Given the description of an element on the screen output the (x, y) to click on. 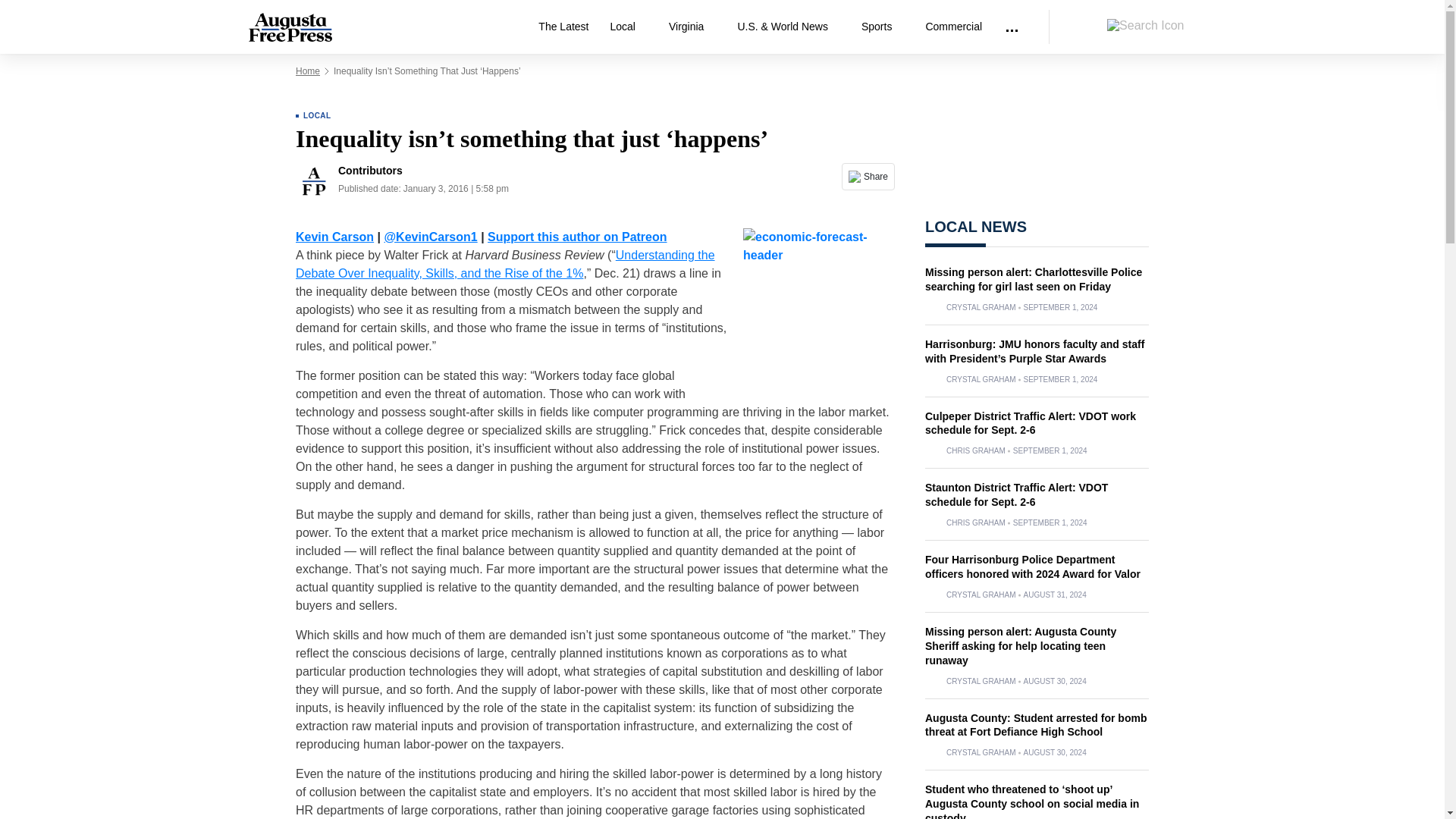
Posts by Kevin Carson (334, 236)
Virginia (692, 27)
Commercial (953, 27)
The Latest (562, 27)
Sports (882, 27)
Local (628, 27)
